Given the description of an element on the screen output the (x, y) to click on. 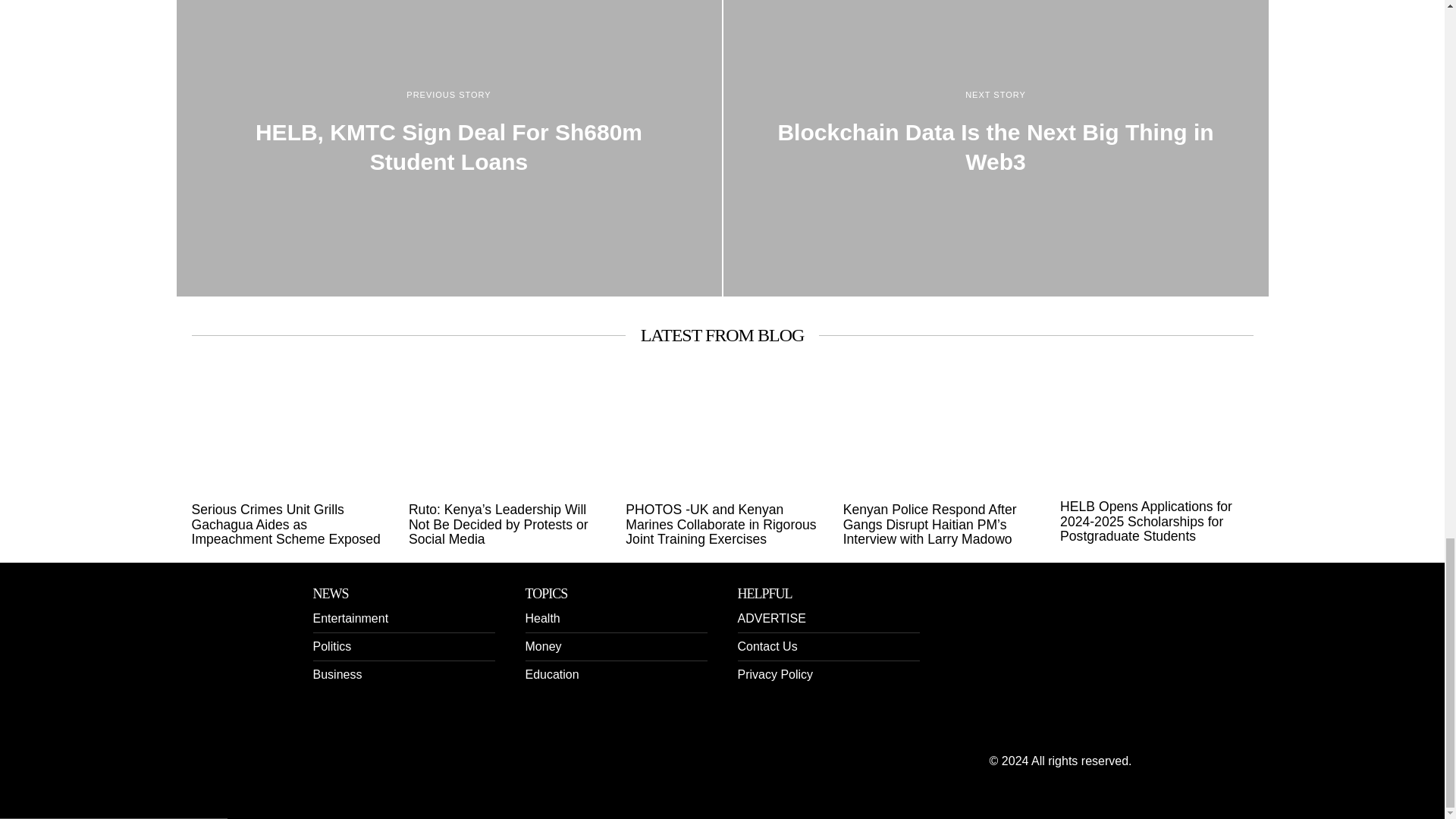
Money (542, 645)
Business (337, 674)
Politics (331, 645)
Entertainment (350, 617)
Health (541, 617)
